Given the description of an element on the screen output the (x, y) to click on. 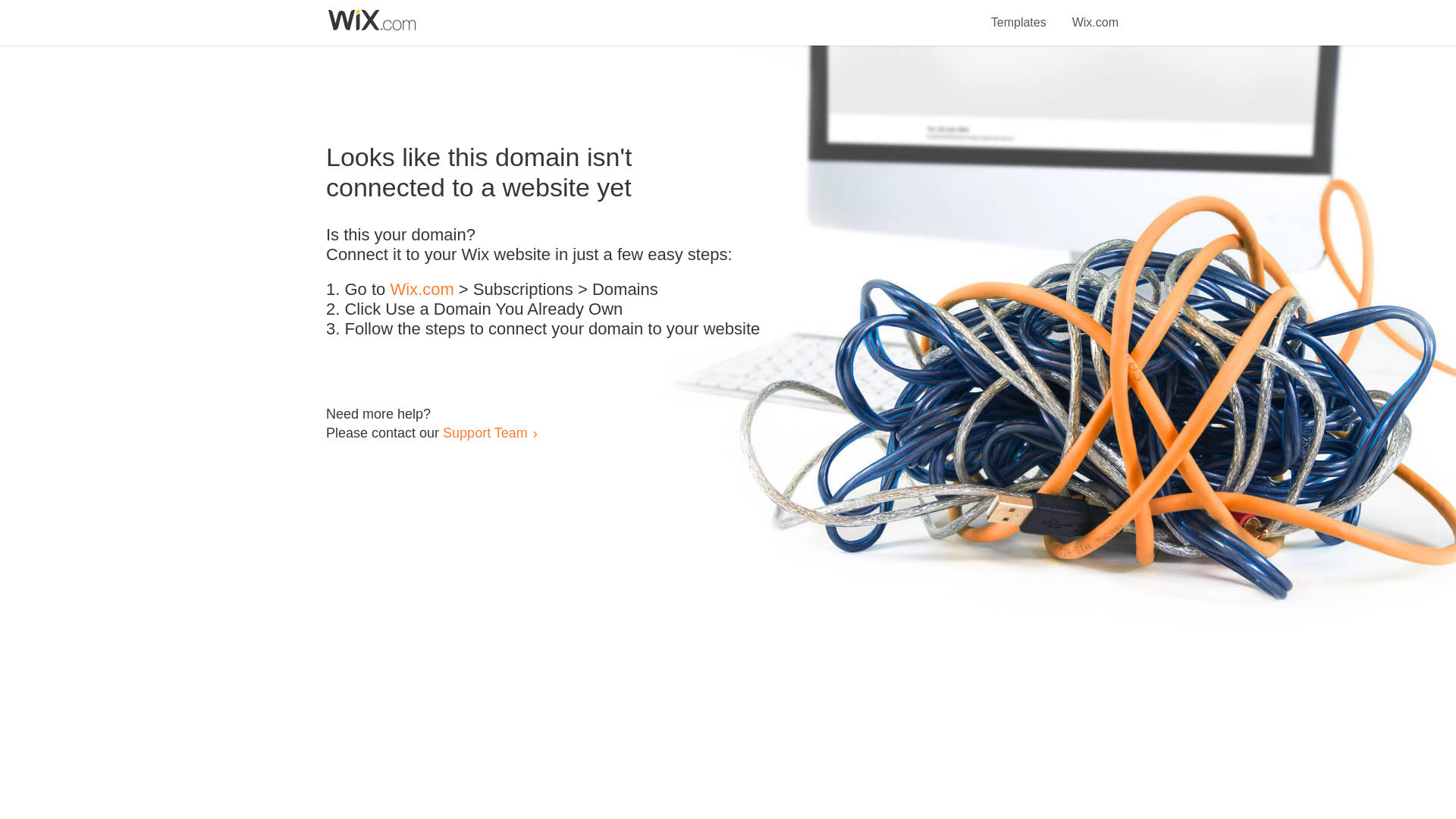
Support Team (484, 432)
Templates (1018, 14)
Wix.com (421, 289)
Wix.com (1095, 14)
